Given the description of an element on the screen output the (x, y) to click on. 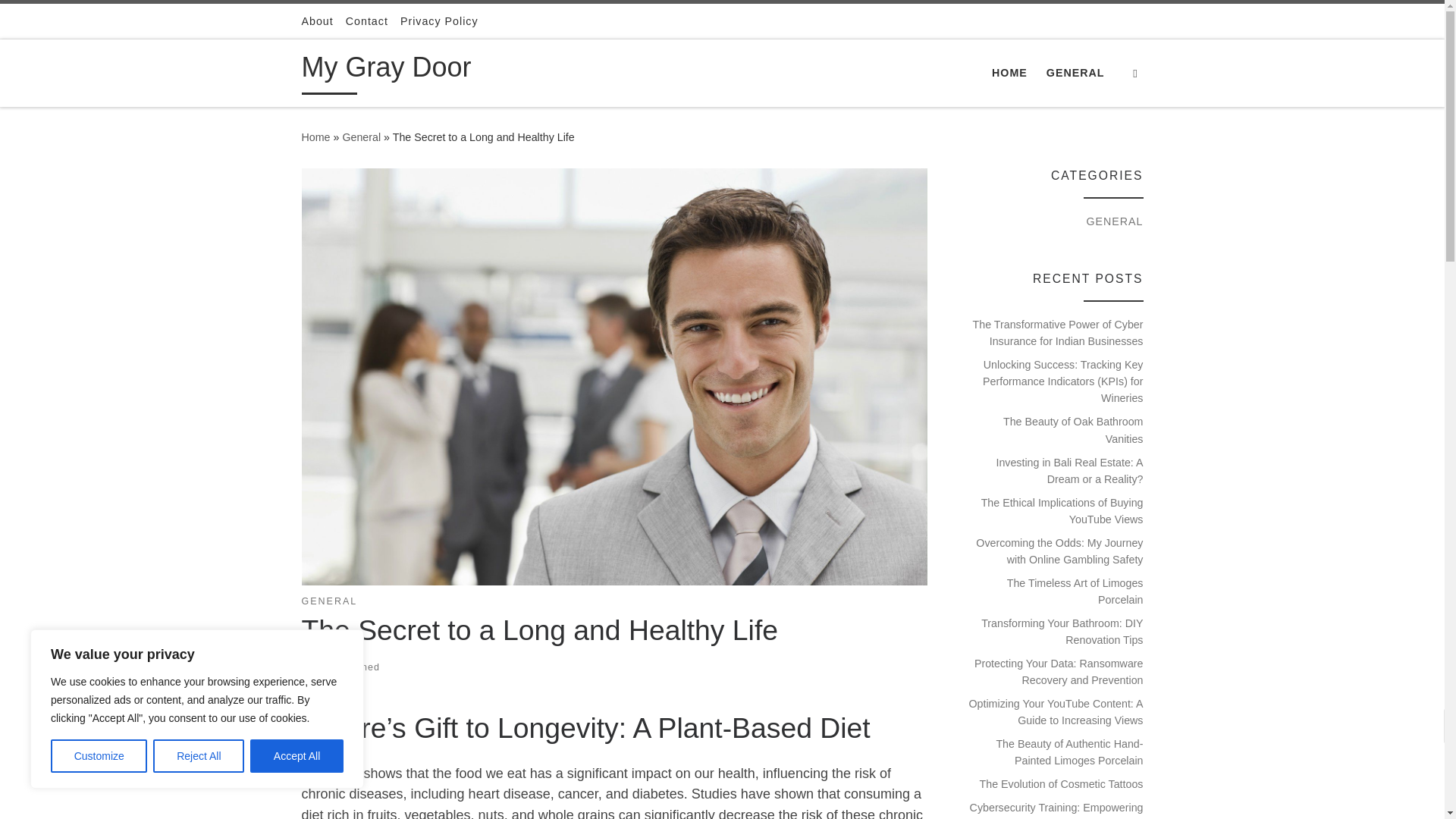
Home (315, 137)
About (317, 21)
Contact (366, 21)
General (361, 137)
GENERAL (1075, 72)
HOME (1009, 72)
View all posts in General (329, 601)
Skip to content (60, 20)
GENERAL (329, 601)
Privacy Policy (439, 21)
